Given the description of an element on the screen output the (x, y) to click on. 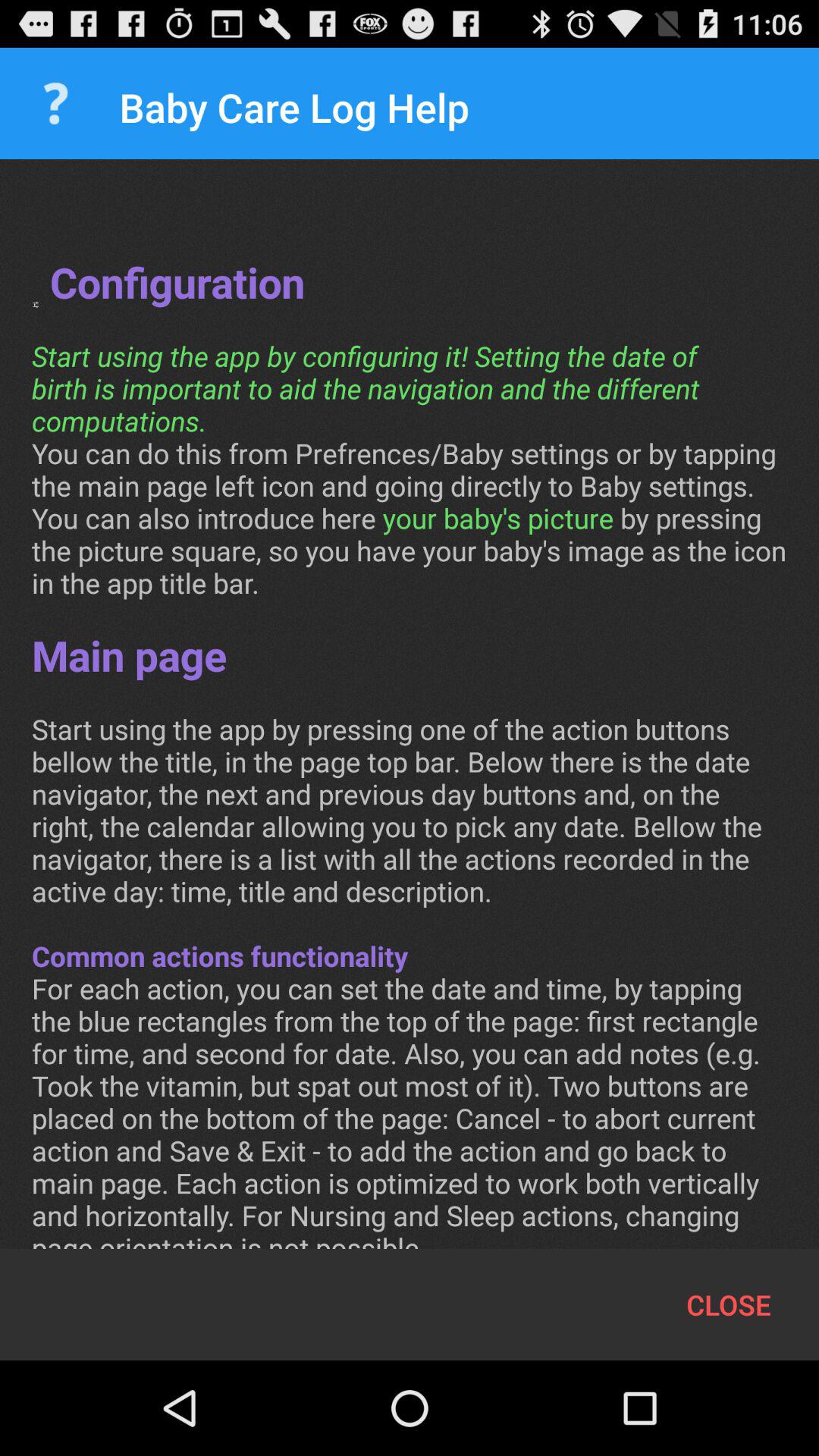
scroll until close icon (728, 1304)
